Given the description of an element on the screen output the (x, y) to click on. 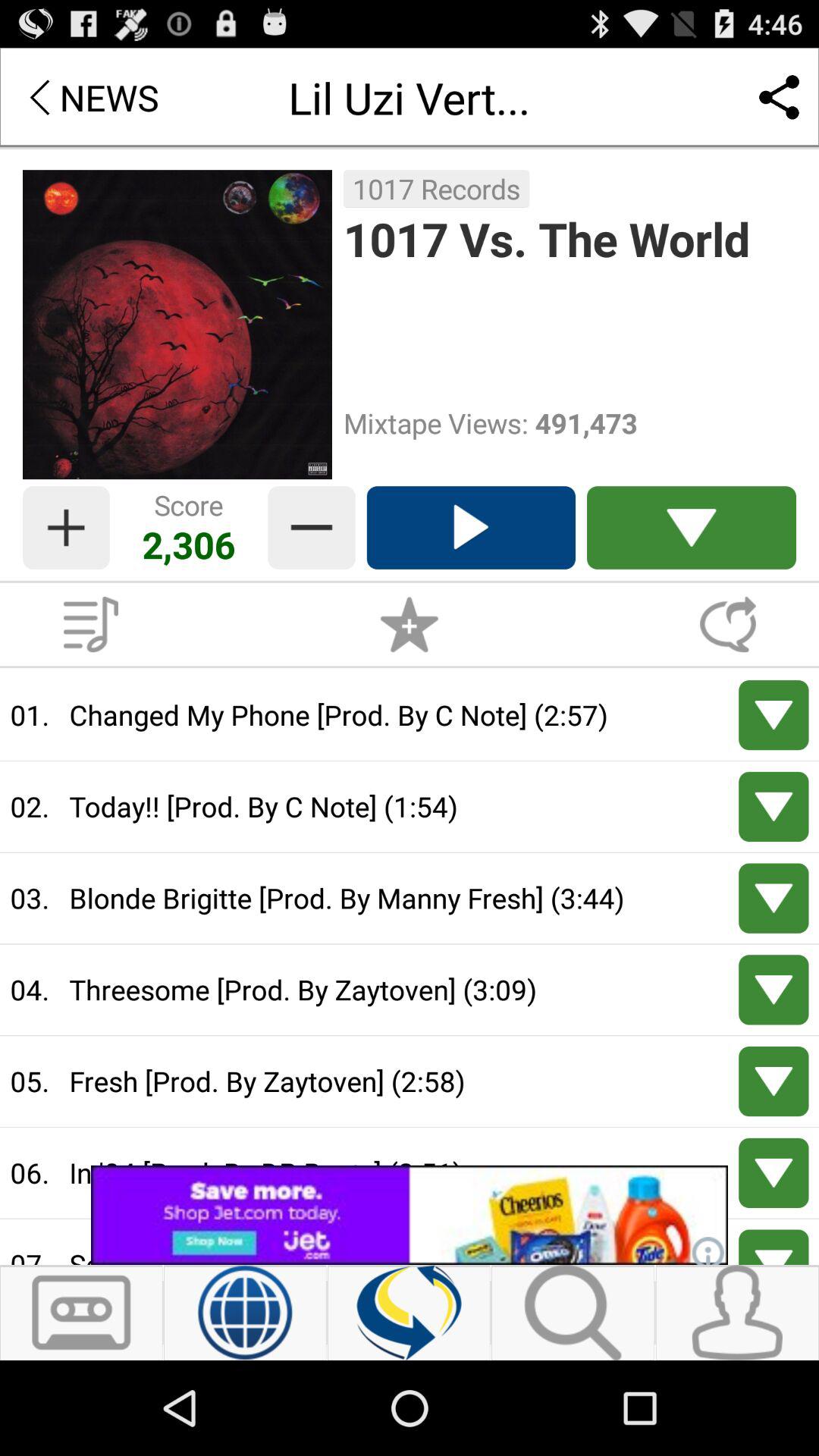
send a message (728, 624)
